Given the description of an element on the screen output the (x, y) to click on. 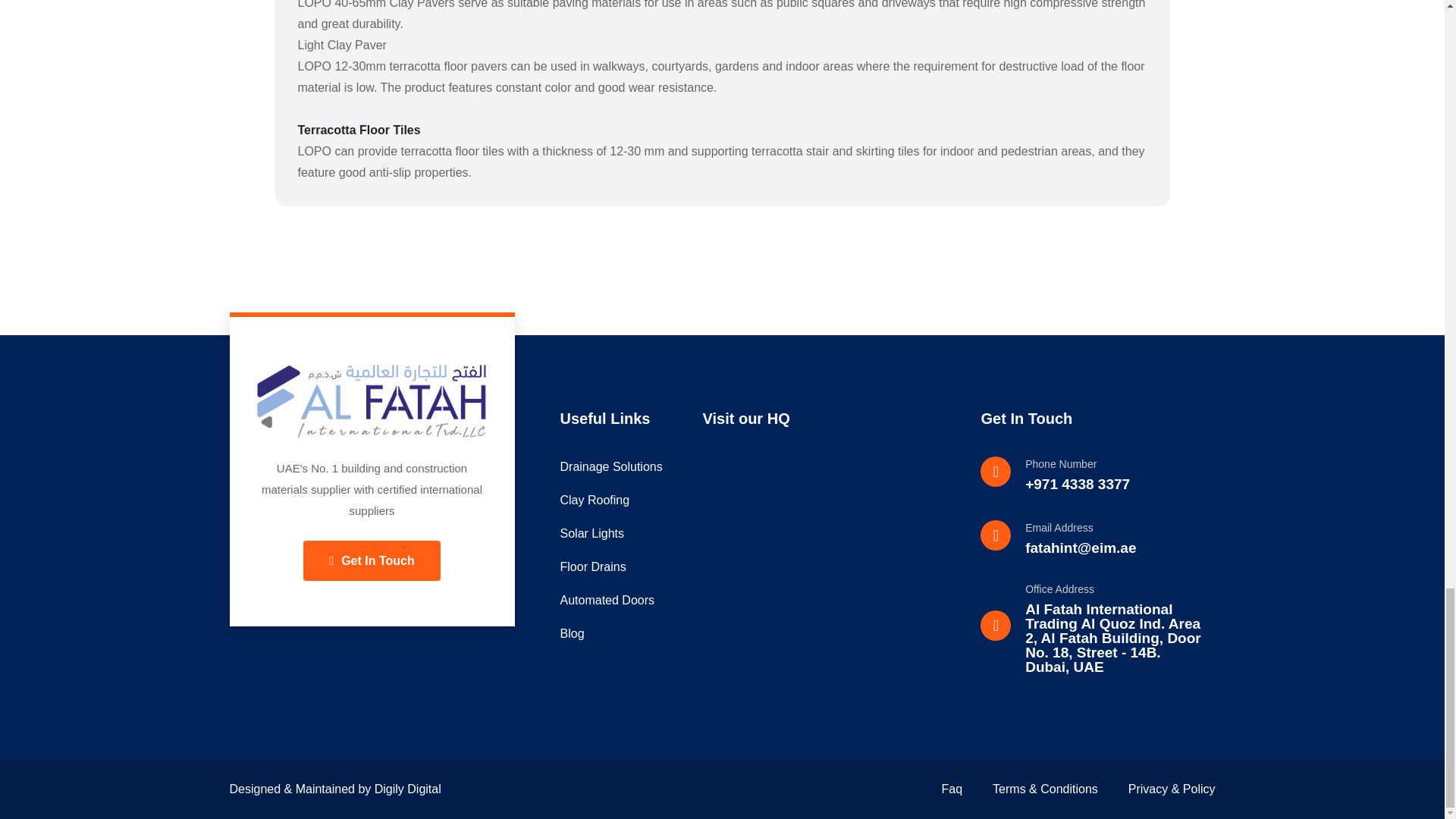
Digily Digital (407, 788)
Floor Drains (623, 567)
Faq (952, 789)
Clay Roofing (623, 500)
Get In Touch (370, 560)
Drainage Solutions (623, 466)
Blog (623, 633)
Solar Lights (623, 533)
Automated Doors (623, 599)
